Given the description of an element on the screen output the (x, y) to click on. 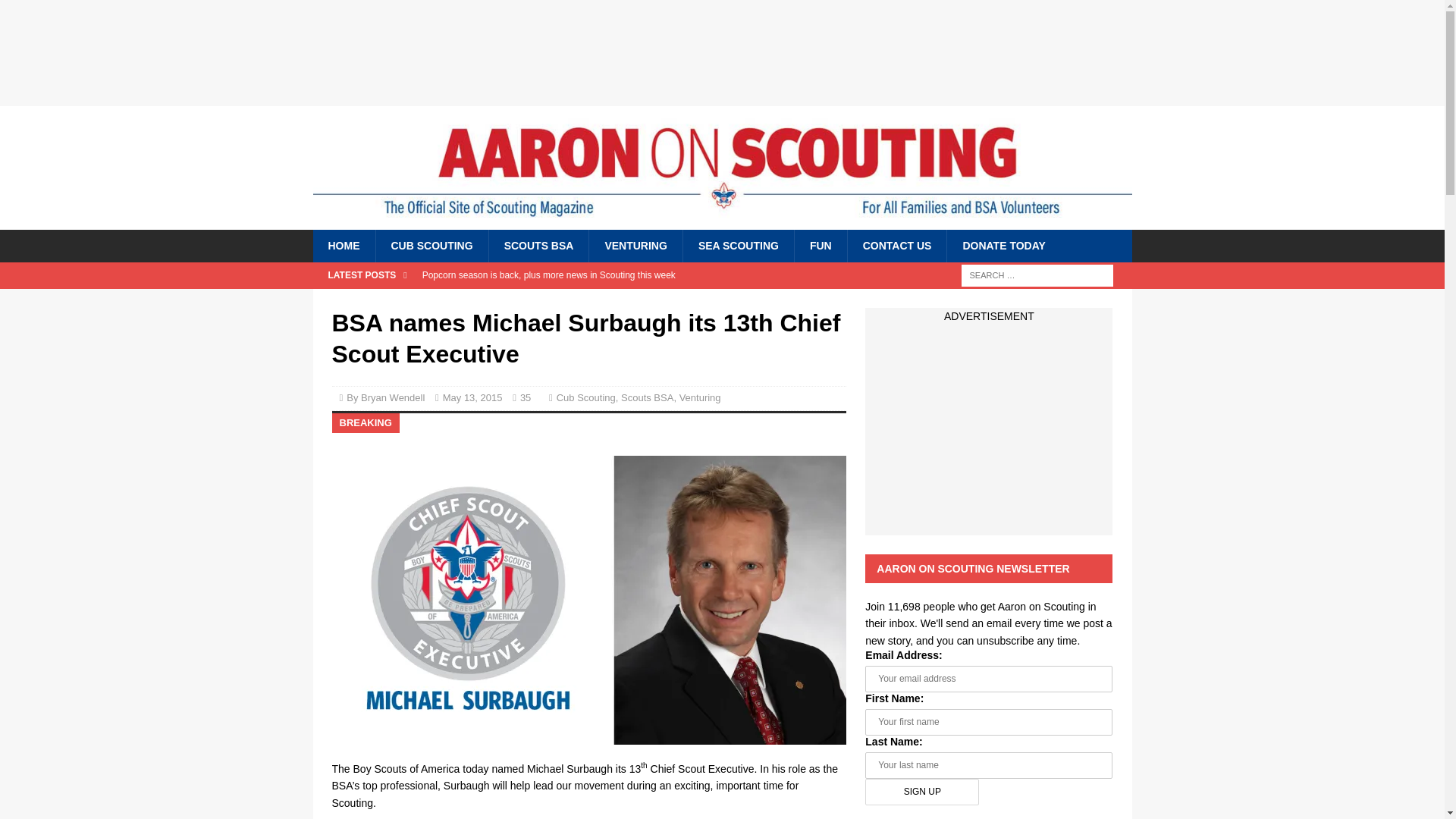
3rd party ad content (721, 52)
SCOUTS BSA (538, 245)
Sign up (921, 791)
Cub Scouting (585, 397)
Venturing (699, 397)
SEA SCOUTING (737, 245)
Search (56, 11)
Aaron On Scouting (722, 214)
CUB SCOUTING (430, 245)
